Given the description of an element on the screen output the (x, y) to click on. 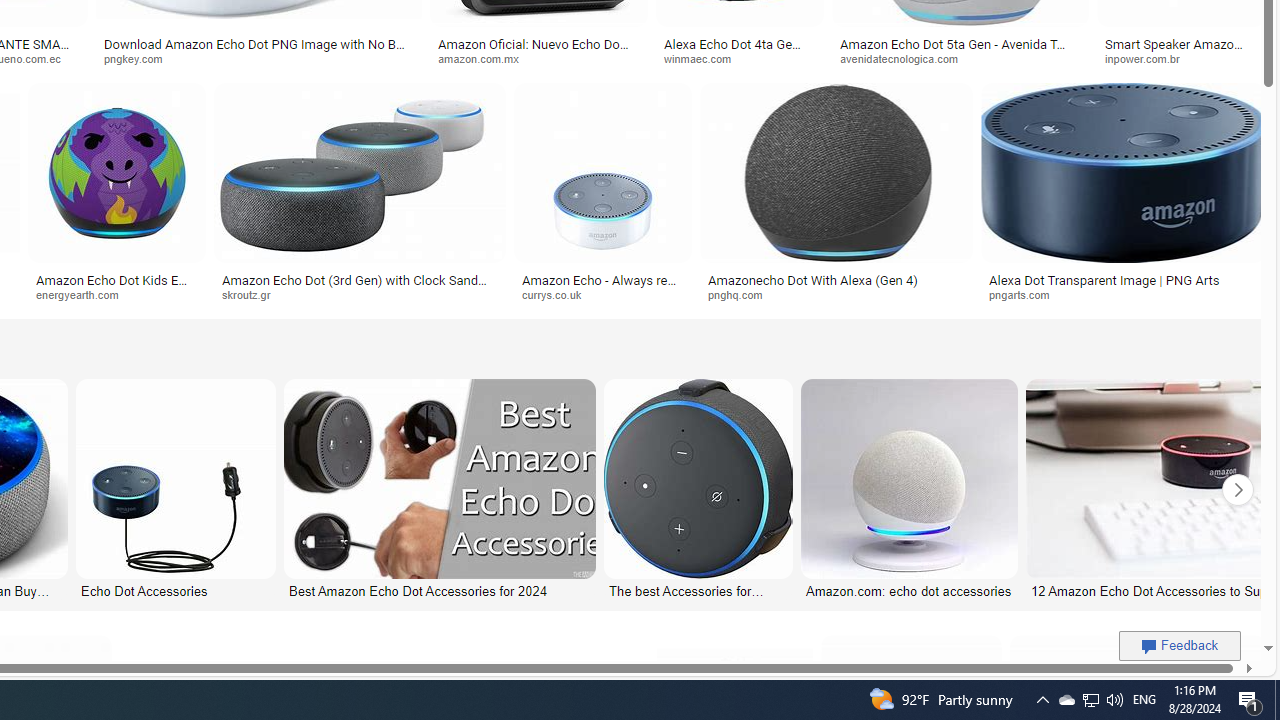
pngarts.com (1123, 295)
currys.co.uk (559, 294)
Best Amazon Echo Dot Accessories for 2024 (437, 589)
skroutz.gr (359, 295)
inpower.com.br (1181, 58)
skroutz.gr (253, 294)
pngkey.com (258, 58)
currys.co.uk (602, 295)
